Given the description of an element on the screen output the (x, y) to click on. 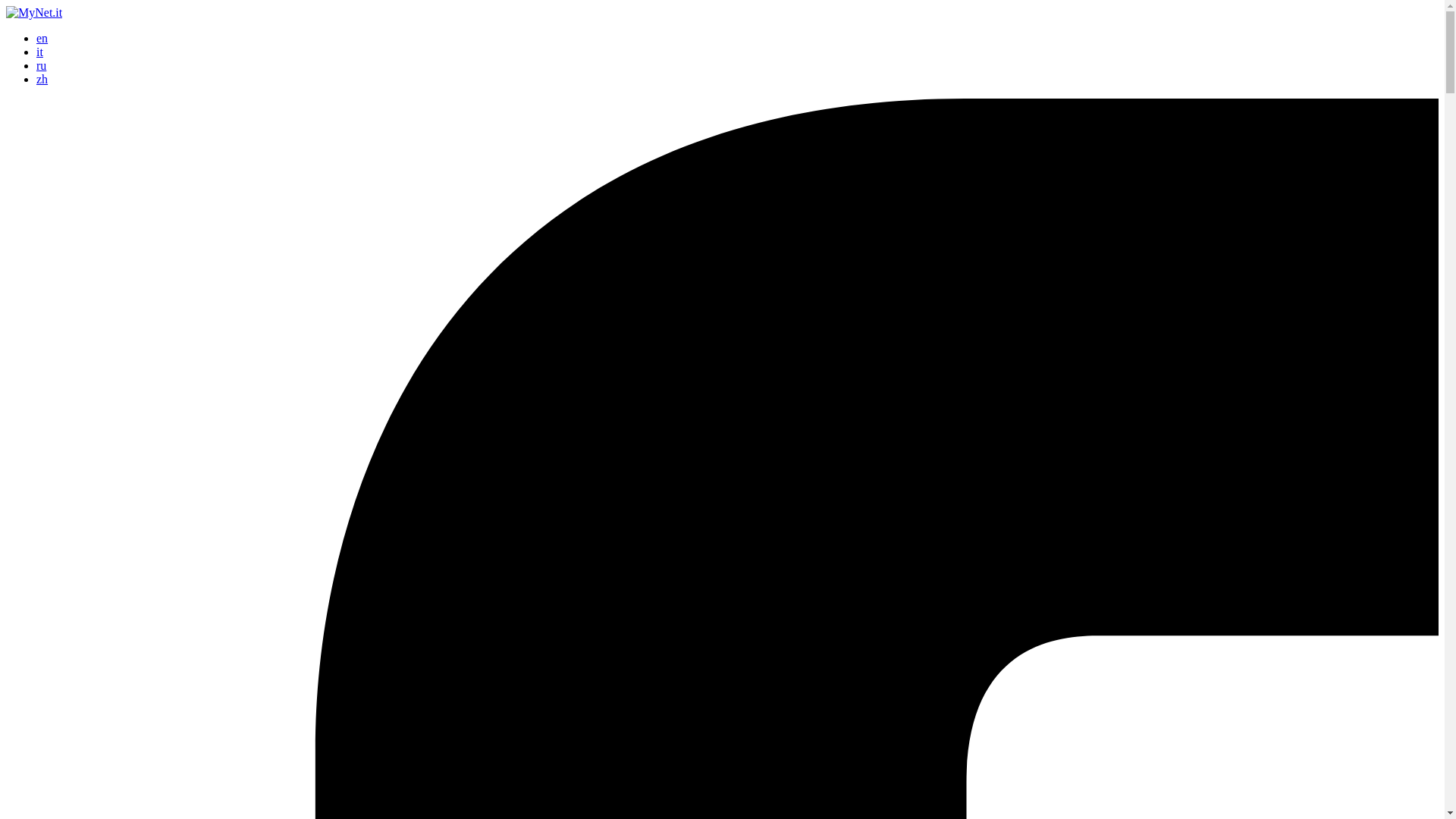
zh (42, 78)
it (39, 51)
ru (41, 65)
MyNet.it (33, 12)
en (42, 38)
